Given the description of an element on the screen output the (x, y) to click on. 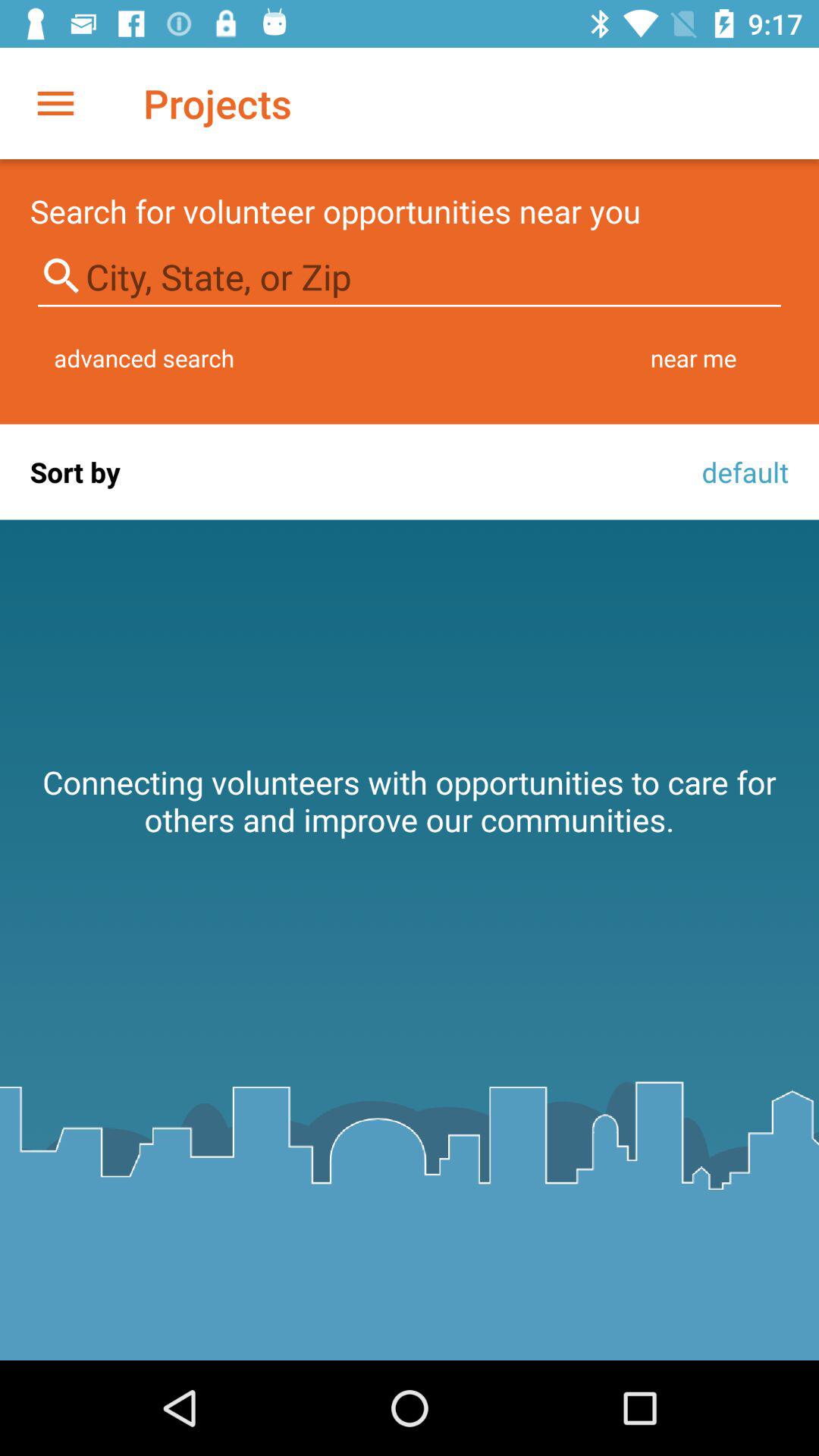
turn off advanced search icon (144, 358)
